Given the description of an element on the screen output the (x, y) to click on. 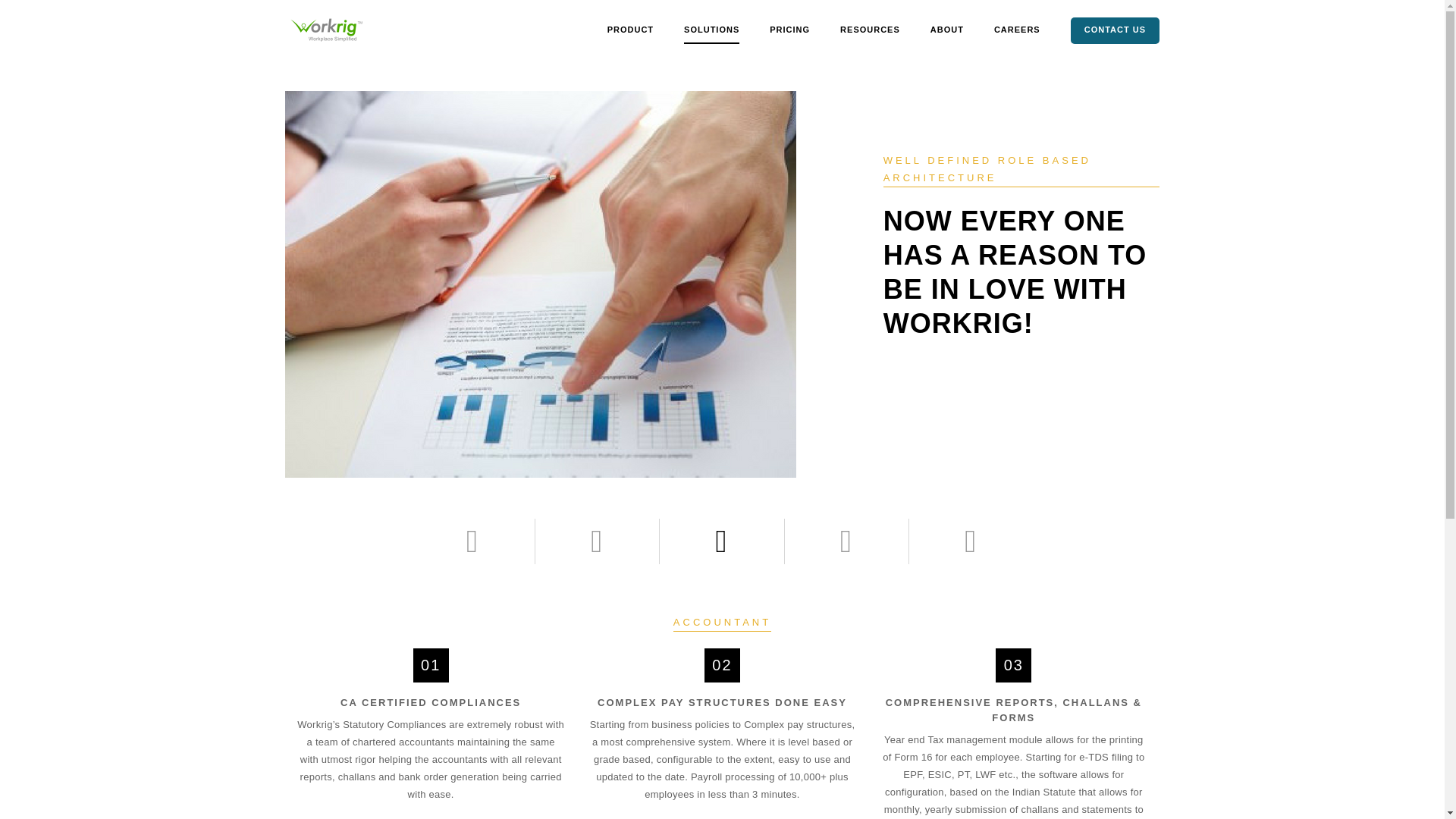
PRODUCT (630, 29)
SOLUTIONS (711, 29)
